Given the description of an element on the screen output the (x, y) to click on. 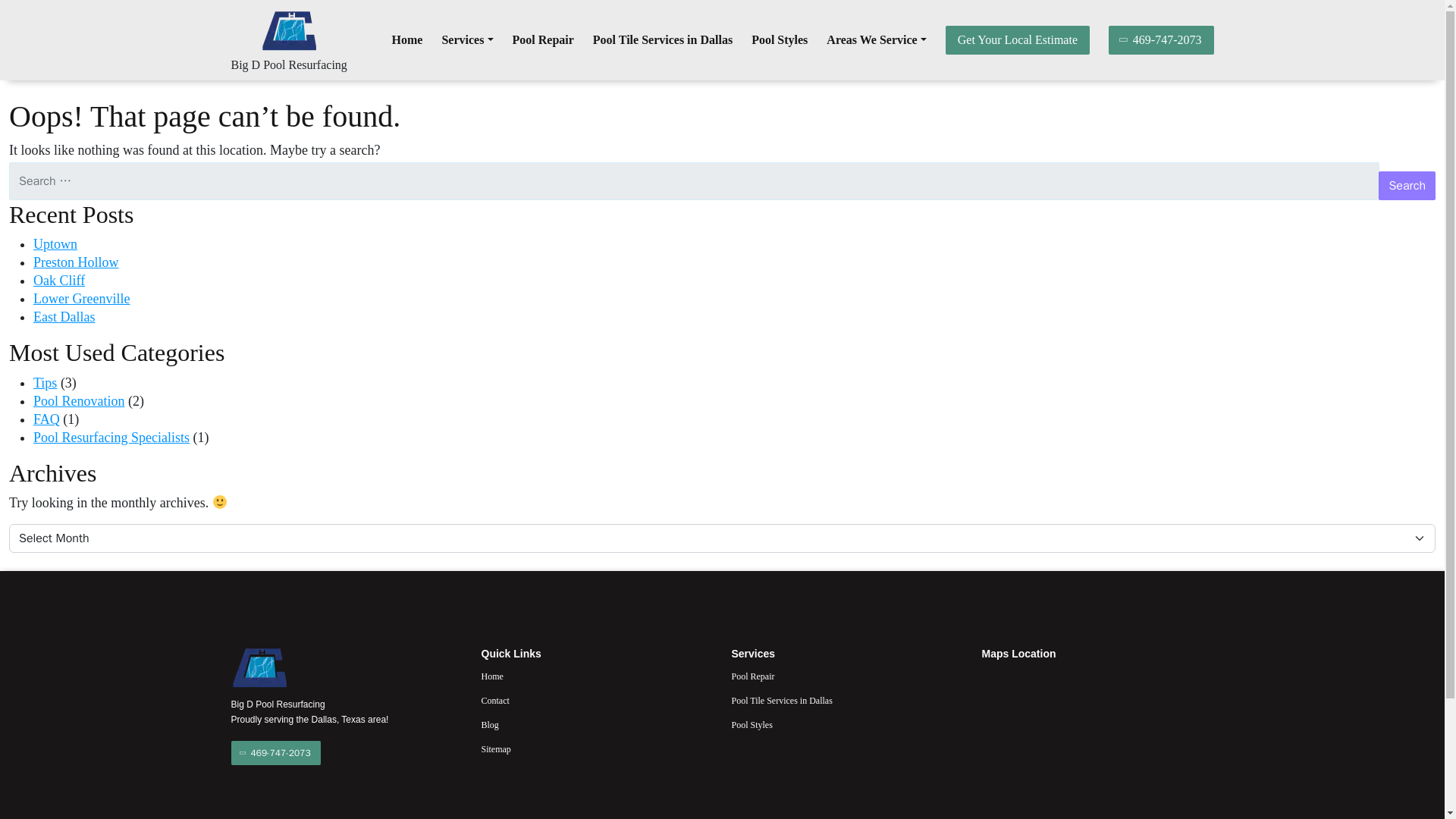
Tips (44, 382)
Big D Pool Resurfacing (288, 64)
Home (407, 40)
Search (1406, 185)
Lower Greenville (81, 298)
Pool Styles (779, 40)
Pool Resurfacing Specialists (111, 437)
Search (1406, 185)
Pool Styles (779, 40)
FAQ (46, 418)
Areas We Service (876, 40)
Pool Tile Services in Dallas (662, 40)
Uptown (55, 243)
Oak Cliff (58, 280)
Preston Hollow (76, 262)
